Given the description of an element on the screen output the (x, y) to click on. 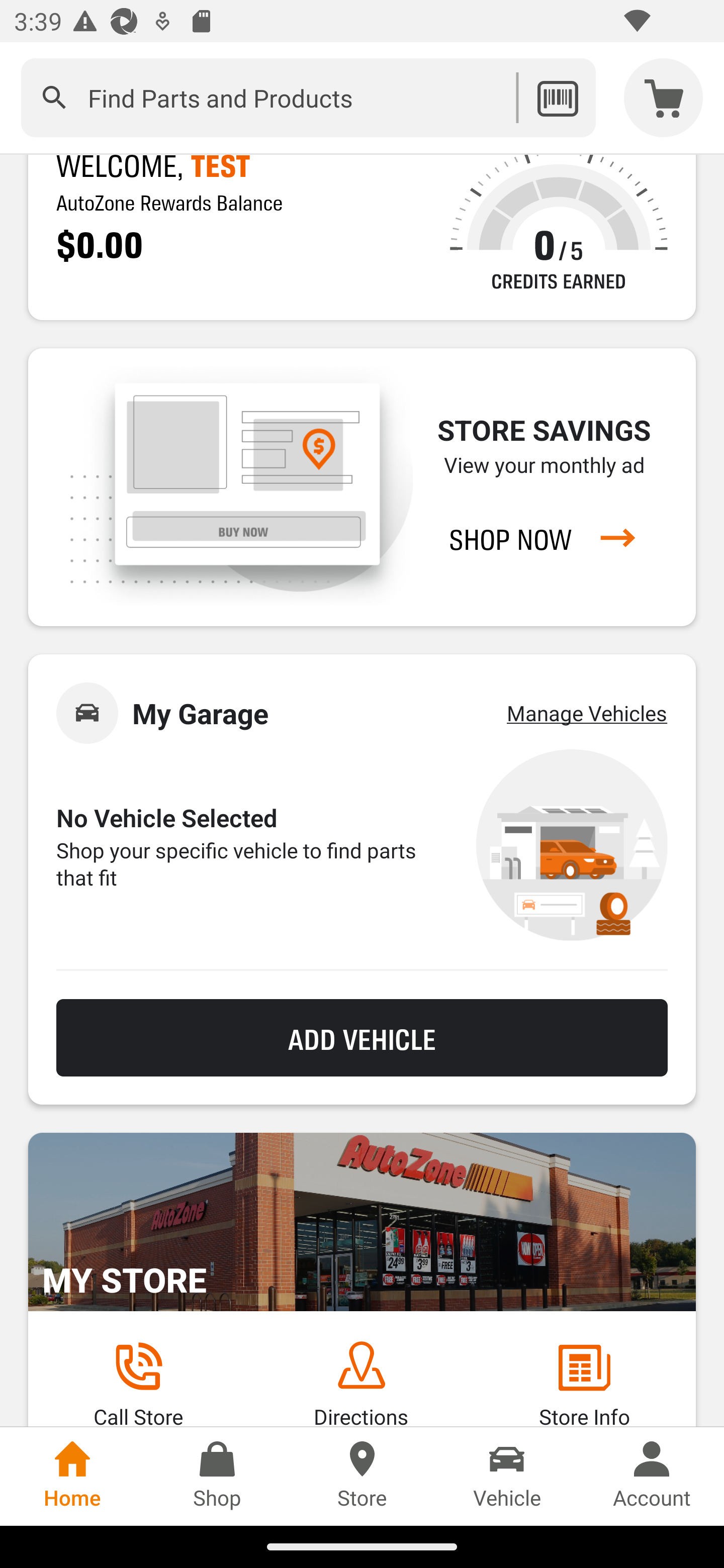
 scan-product-to-search  (557, 97)
 (54, 97)
Cart, no items  (663, 97)
Manage Vehicles (586, 713)
ADD VEHICLE (361, 1037)
Call Store  Call Store (138, 1382)
Directions  Directions (361, 1382)
Store Info  Store Info (584, 1382)
Home (72, 1475)
Shop (216, 1475)
Store (361, 1475)
Vehicle (506, 1475)
Account (651, 1475)
